Given the description of an element on the screen output the (x, y) to click on. 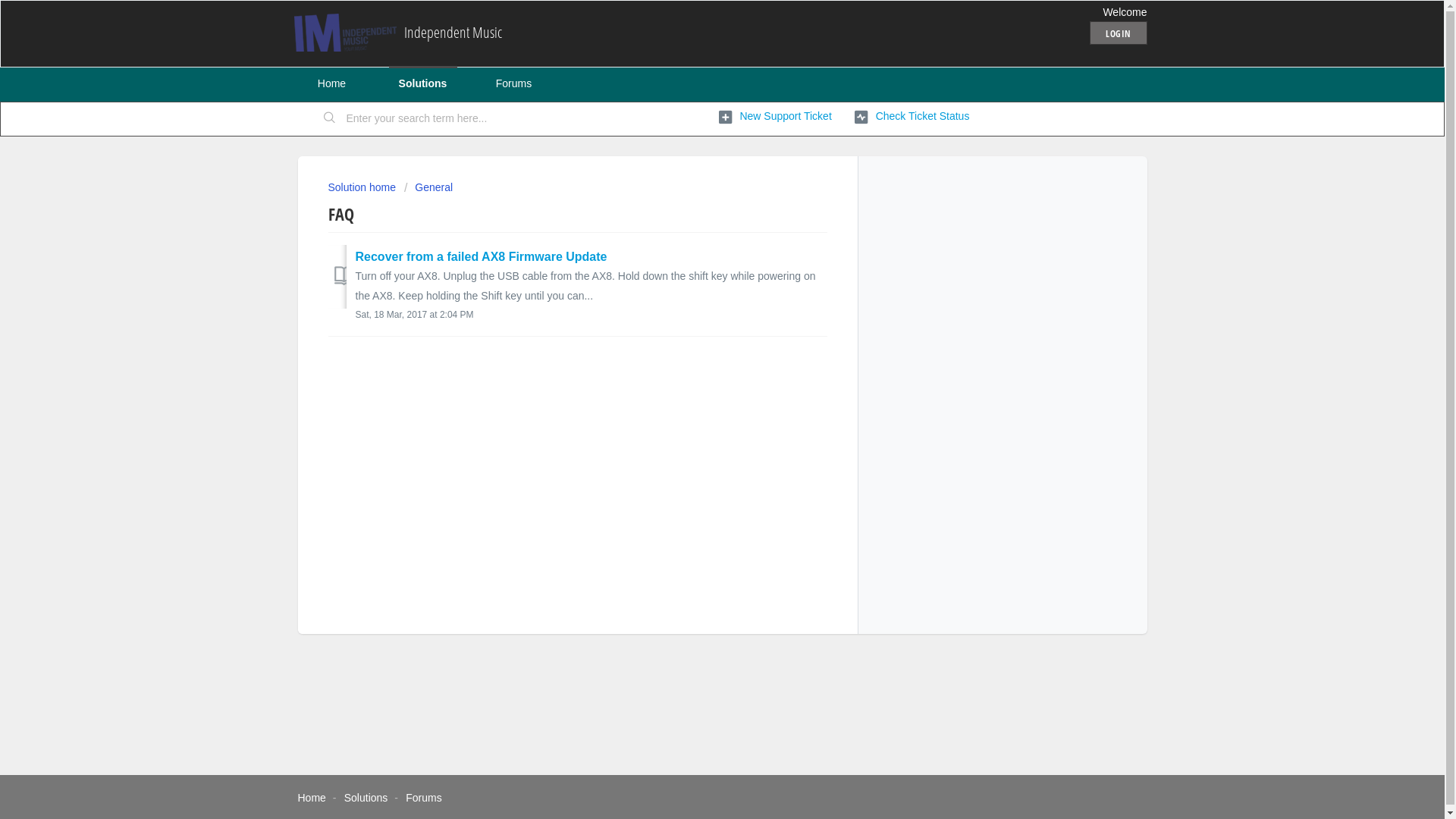
General Element type: text (428, 187)
Recover from a failed AX8 Firmware Update Element type: text (480, 256)
New Support Ticket Element type: text (774, 116)
Check Ticket Status Element type: text (911, 116)
Home Element type: text (311, 797)
Solutions Element type: text (366, 797)
Forums Element type: text (513, 83)
Home Element type: text (331, 83)
Forums Element type: text (423, 797)
Solutions Element type: text (422, 83)
Solution home Element type: text (362, 187)
LOGIN Element type: text (1118, 32)
